Given the description of an element on the screen output the (x, y) to click on. 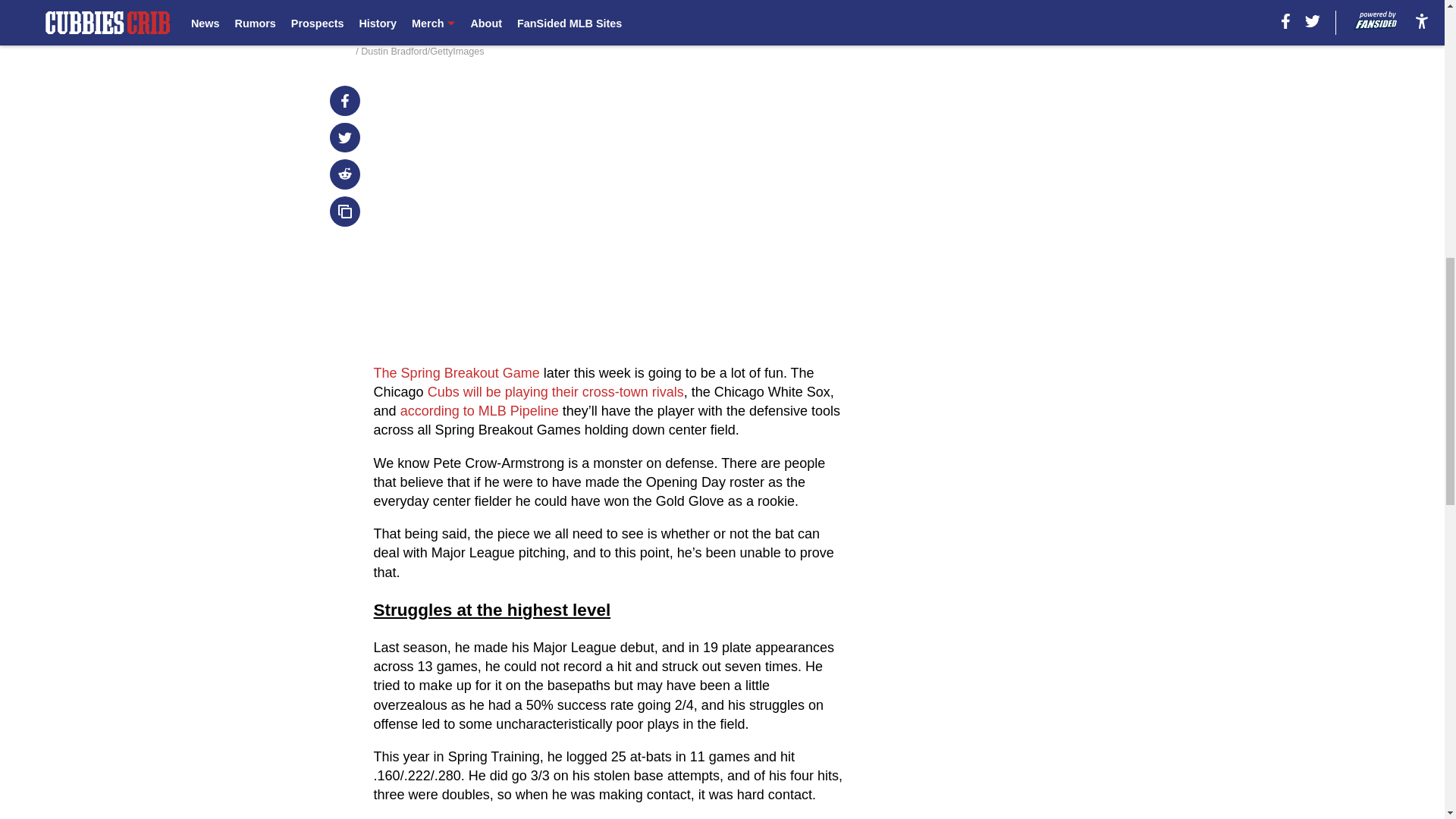
according to MLB Pipeline (481, 410)
The Spring Breakout Game (457, 372)
Cubs will be playing their cross-town rivals (556, 391)
